Given the description of an element on the screen output the (x, y) to click on. 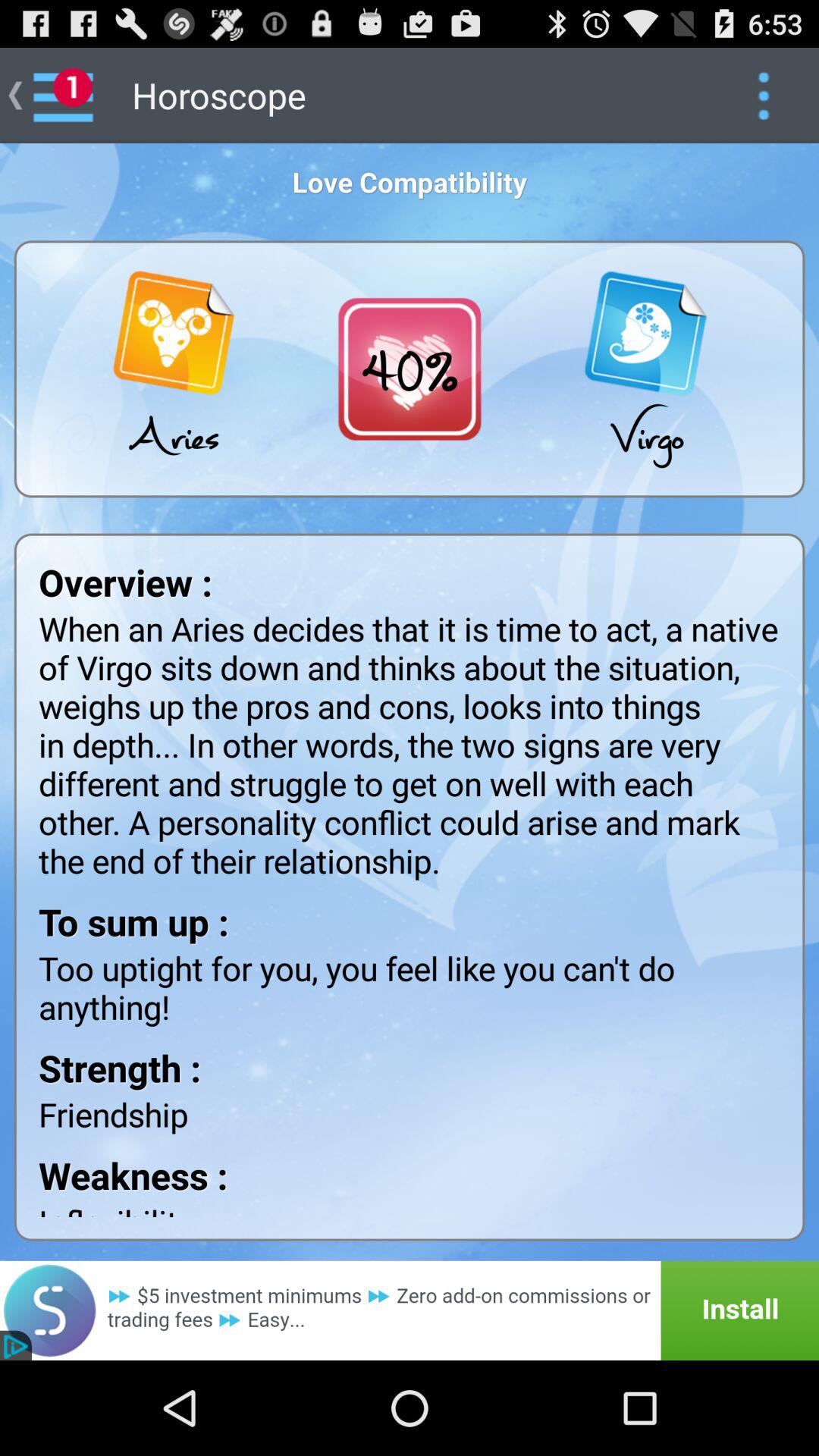
switch to filter (763, 95)
